Given the description of an element on the screen output the (x, y) to click on. 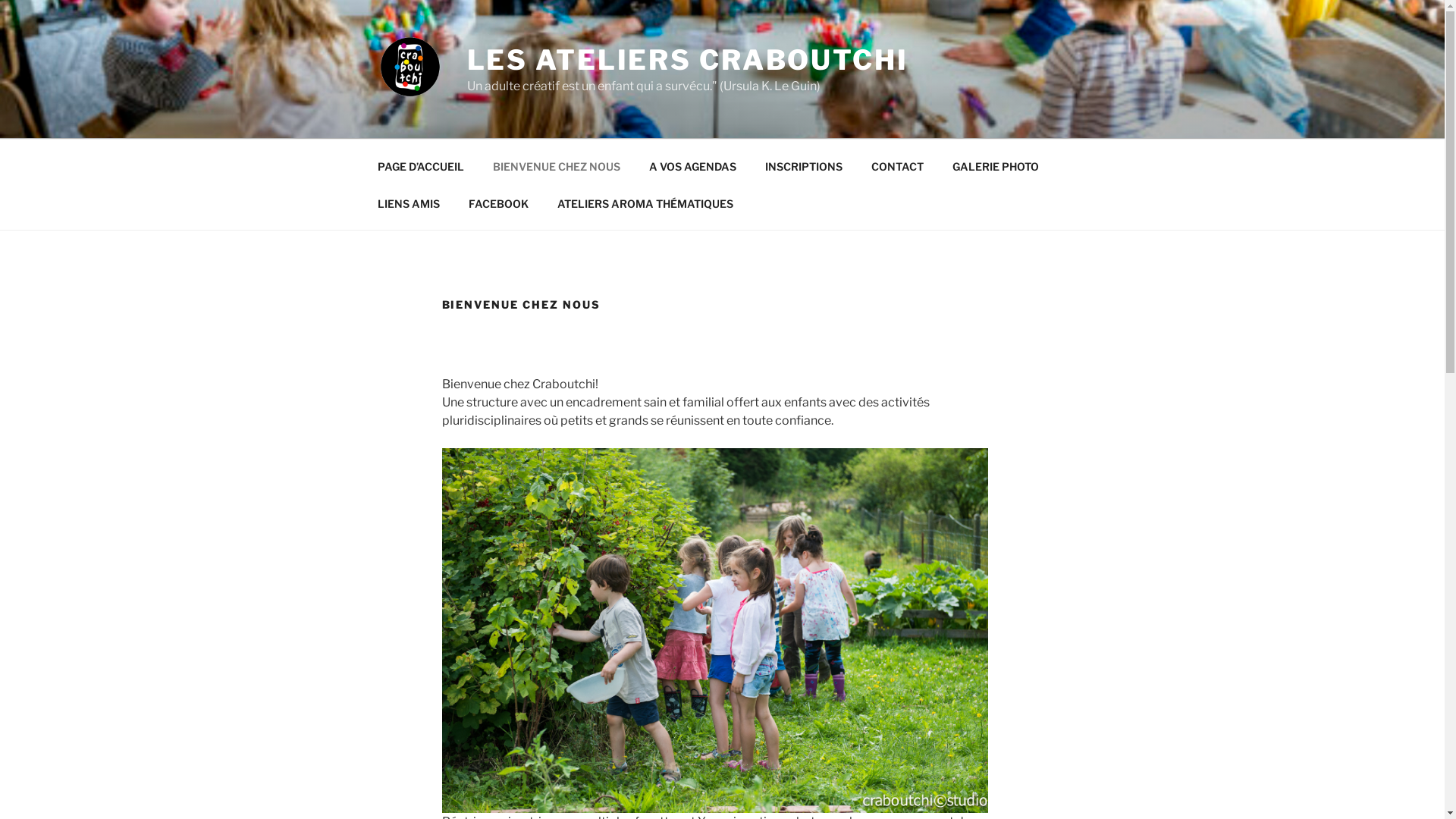
A VOS AGENDAS Element type: text (692, 165)
INSCRIPTIONS Element type: text (804, 165)
BIENVENUE CHEZ NOUS Element type: text (556, 165)
GALERIE PHOTO Element type: text (994, 165)
FACEBOOK Element type: text (498, 203)
LIENS AMIS Element type: text (408, 203)
CONTACT Element type: text (897, 165)
LES ATELIERS CRABOUTCHI Element type: text (687, 59)
